Given the description of an element on the screen output the (x, y) to click on. 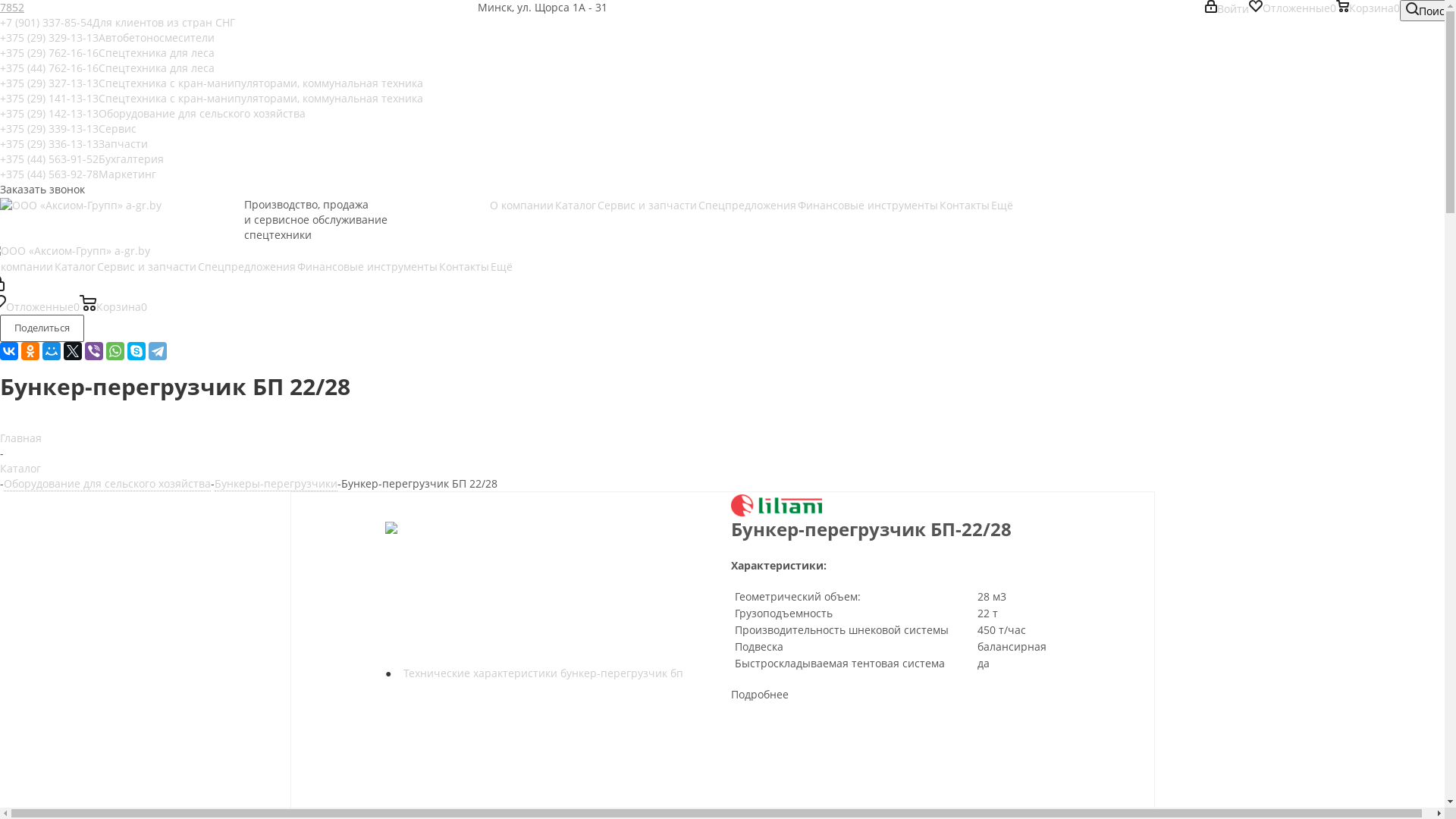
Twitter Element type: hover (72, 351)
Skype Element type: hover (136, 351)
7852 Element type: text (12, 7)
WhatsApp Element type: hover (115, 351)
Telegram Element type: hover (157, 351)
Viber Element type: hover (93, 351)
Liliani Element type: hover (776, 505)
